Given the description of an element on the screen output the (x, y) to click on. 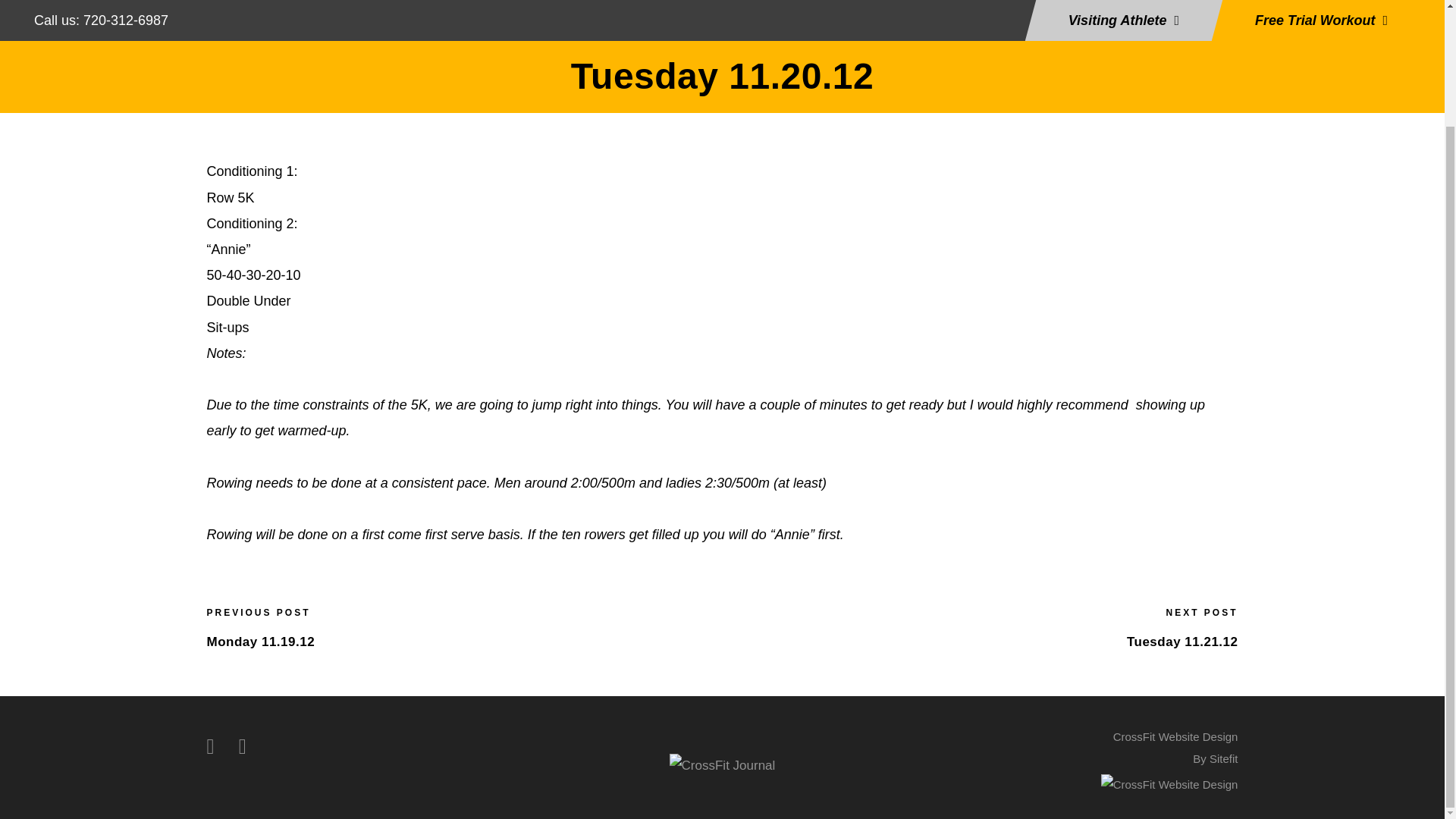
CrossFit Website Design (1176, 747)
Pricing (832, 17)
Tuesday 11.21.12 (1182, 641)
Contact (967, 17)
Workouts (898, 17)
Monday 11.19.12 (260, 641)
CrossFit Website Design (1169, 783)
How To Join (528, 17)
About (599, 17)
What We Offer (677, 17)
Schedule (766, 17)
